Given the description of an element on the screen output the (x, y) to click on. 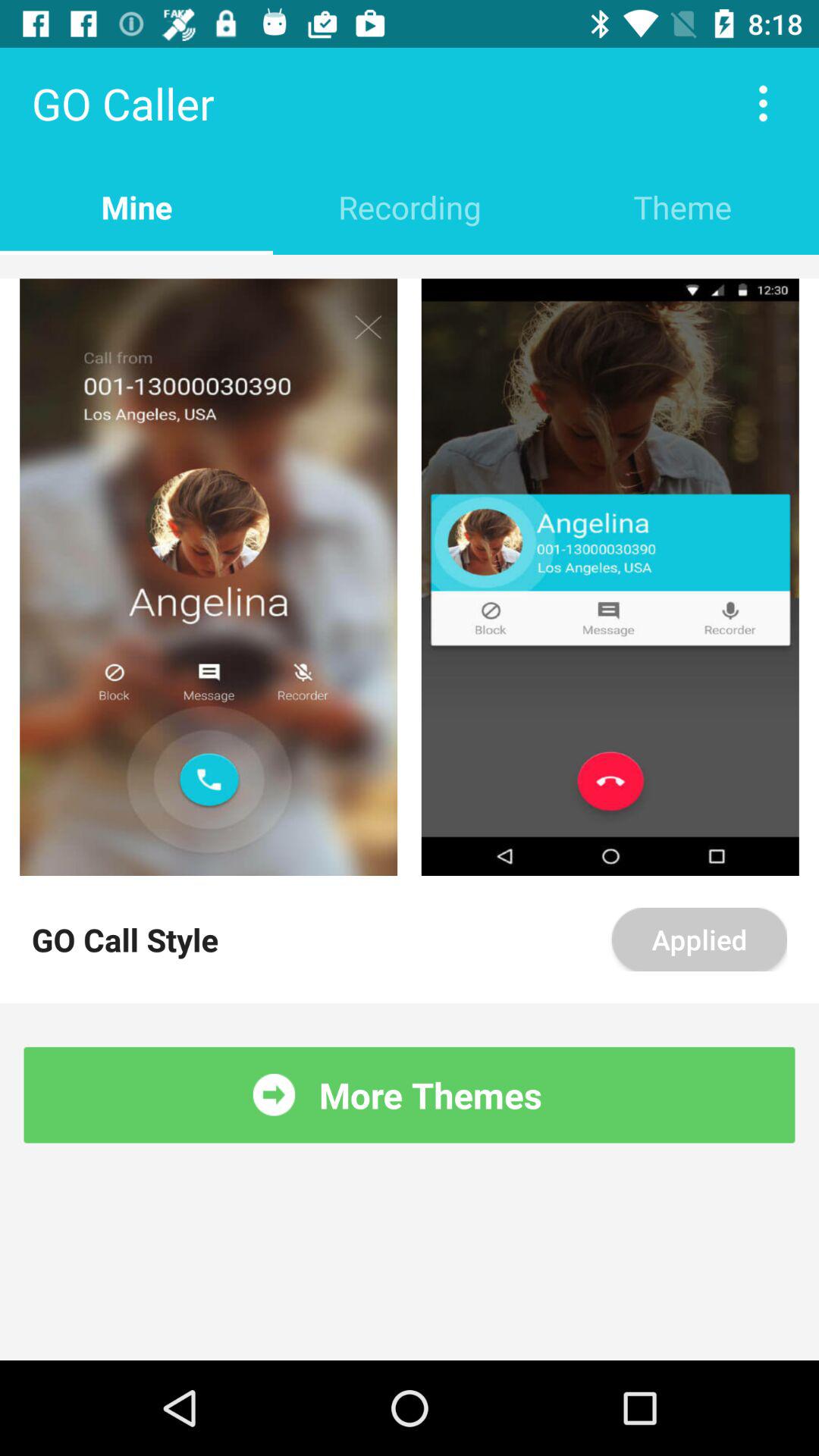
turn on icon below mine icon (409, 266)
